Given the description of an element on the screen output the (x, y) to click on. 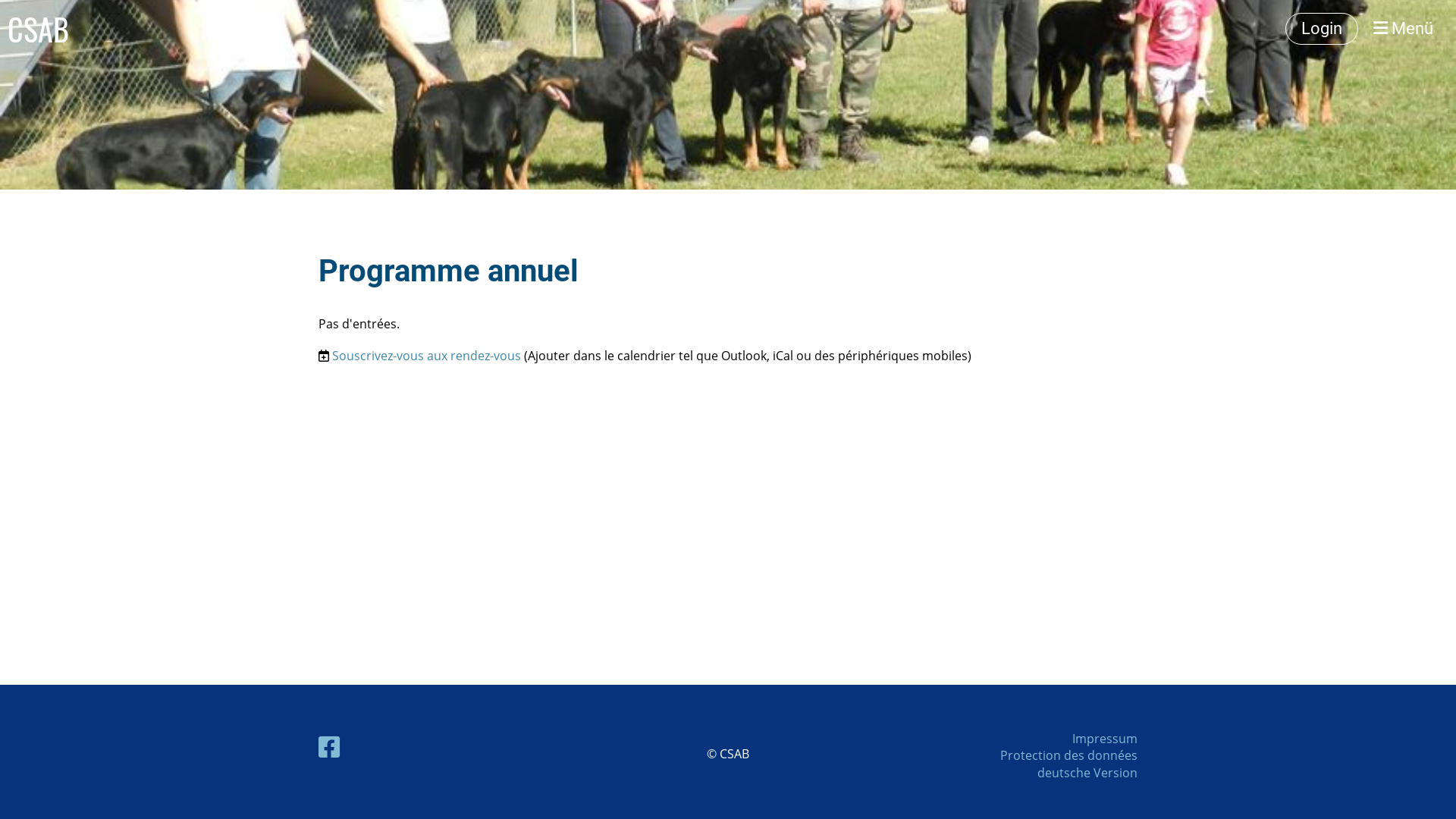
Login Element type: text (1321, 28)
CSAB Element type: text (38, 28)
deutsche Version Element type: text (1087, 772)
Impressum Element type: text (1104, 738)
Souscrivez-vous aux rendez-vous Element type: text (426, 355)
